Given the description of an element on the screen output the (x, y) to click on. 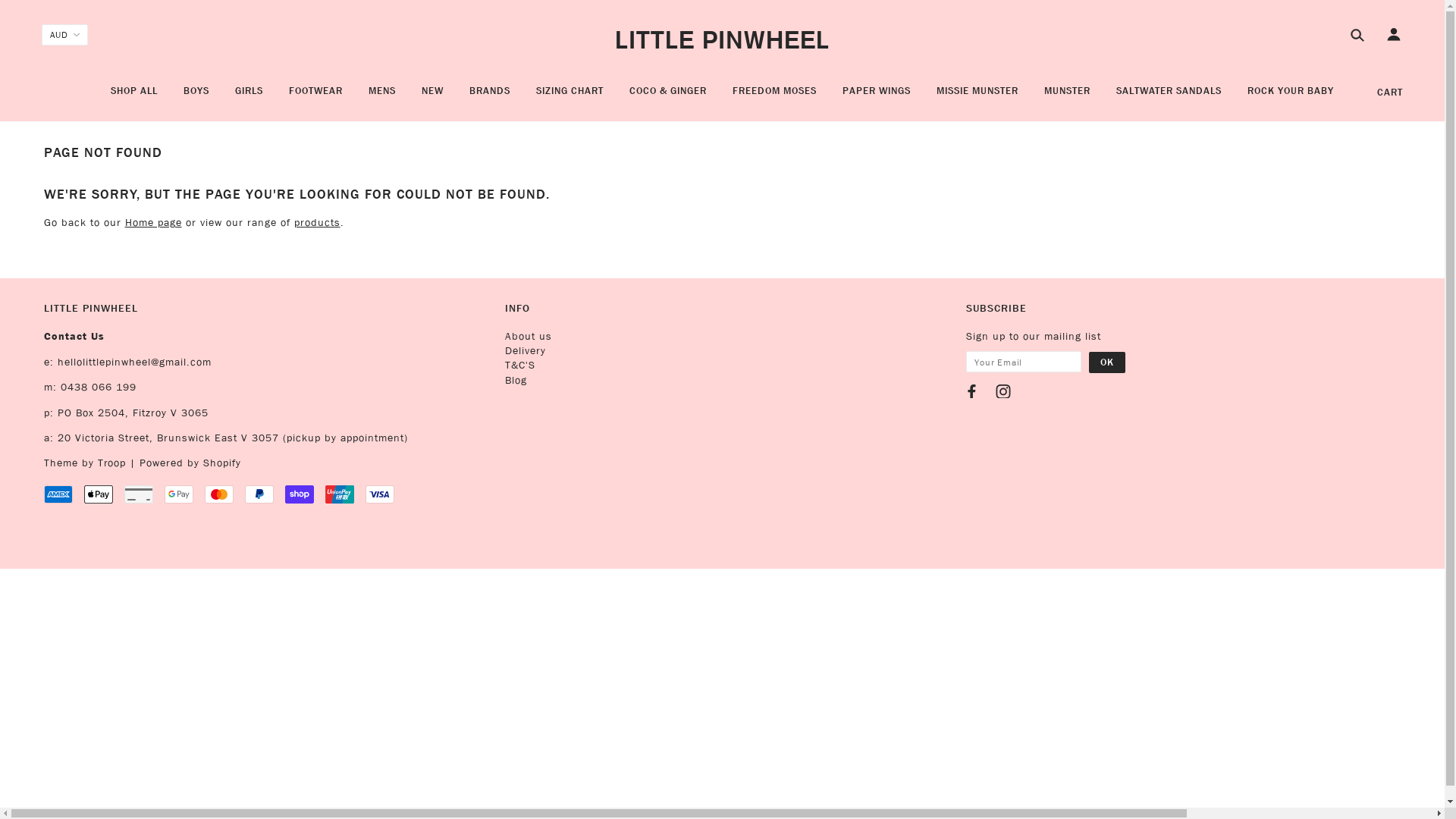
SHOP ALL Element type: text (134, 97)
Blog Element type: text (516, 380)
SIZING CHART Element type: text (569, 97)
FREEDOM MOSES Element type: text (774, 97)
ROCK YOUR BABY Element type: text (1290, 97)
About us Element type: text (528, 336)
PAPER WINGS Element type: text (876, 97)
SALTWATER SANDALS Element type: text (1168, 97)
Powered by Shopify Element type: text (190, 462)
GIRLS Element type: text (248, 97)
CART Element type: text (1389, 92)
Home page Element type: text (152, 222)
Theme by Troop Element type: text (84, 462)
MUNSTER Element type: text (1066, 97)
BRANDS Element type: text (489, 97)
COCO & GINGER Element type: text (668, 97)
LITTLE PINWHEEL Element type: text (722, 39)
NEW Element type: text (432, 97)
BOYS Element type: text (196, 97)
MENS Element type: text (382, 97)
Delivery Element type: text (525, 350)
products Element type: text (317, 222)
OK Element type: text (1106, 362)
MISSIE MUNSTER Element type: text (977, 97)
FOOTWEAR Element type: text (315, 97)
T&C'S Element type: text (520, 364)
